Given the description of an element on the screen output the (x, y) to click on. 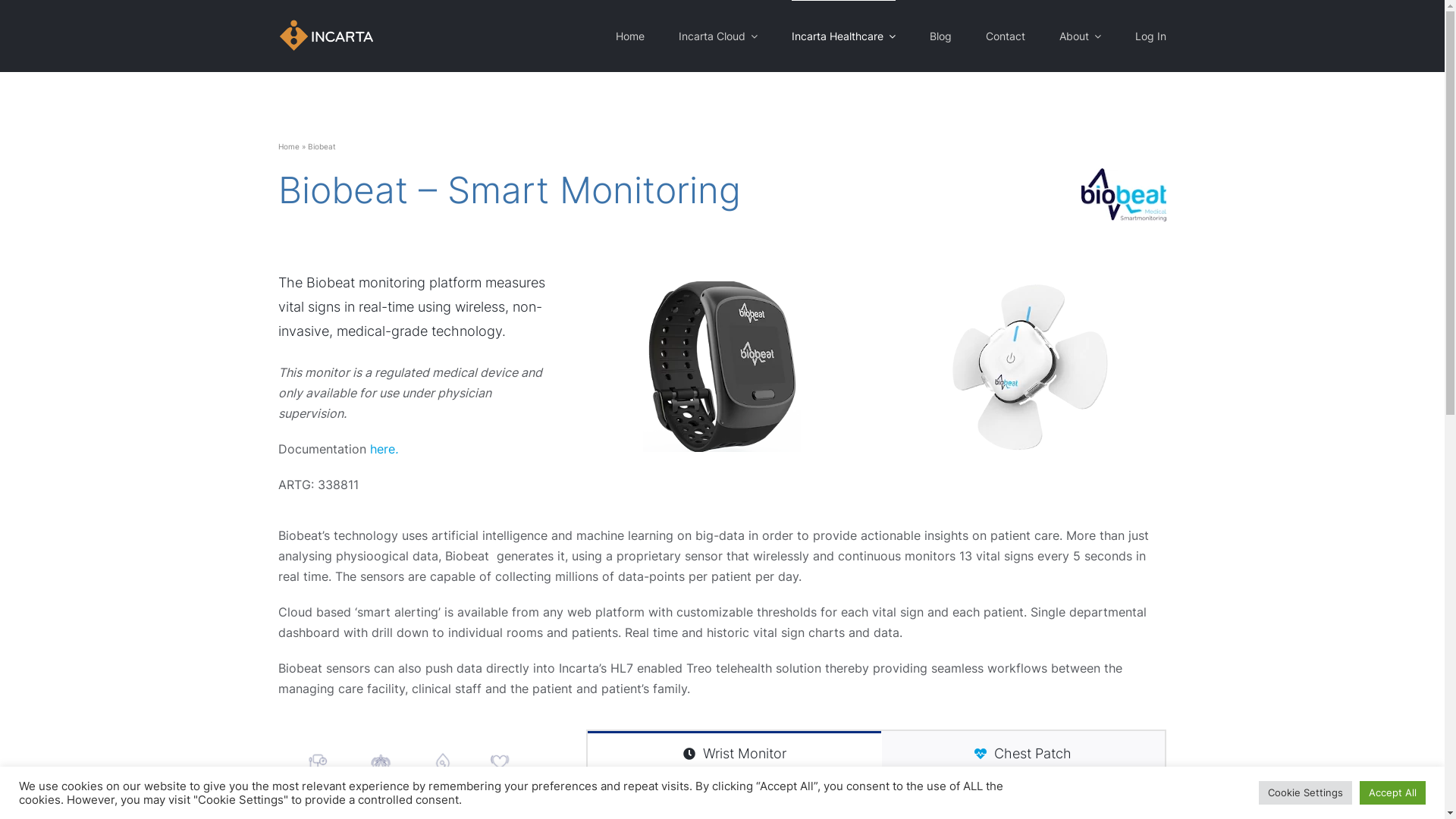
here Element type: text (382, 448)
patch-300 Element type: hover (1029, 366)
Contact Element type: text (1005, 36)
Accept All Element type: text (1392, 792)
Home Element type: text (288, 145)
Home Element type: text (629, 36)
Incarta Healthcare Element type: text (843, 36)
About Element type: text (1079, 36)
Log In Element type: text (1149, 36)
. Element type: text (396, 448)
Blog Element type: text (940, 36)
watch-300 Element type: hover (721, 366)
Cookie Settings Element type: text (1305, 792)
Incarta Cloud Element type: text (716, 36)
Wrist Monitor Element type: text (734, 752)
Chest Patch Element type: text (1022, 752)
